Given the description of an element on the screen output the (x, y) to click on. 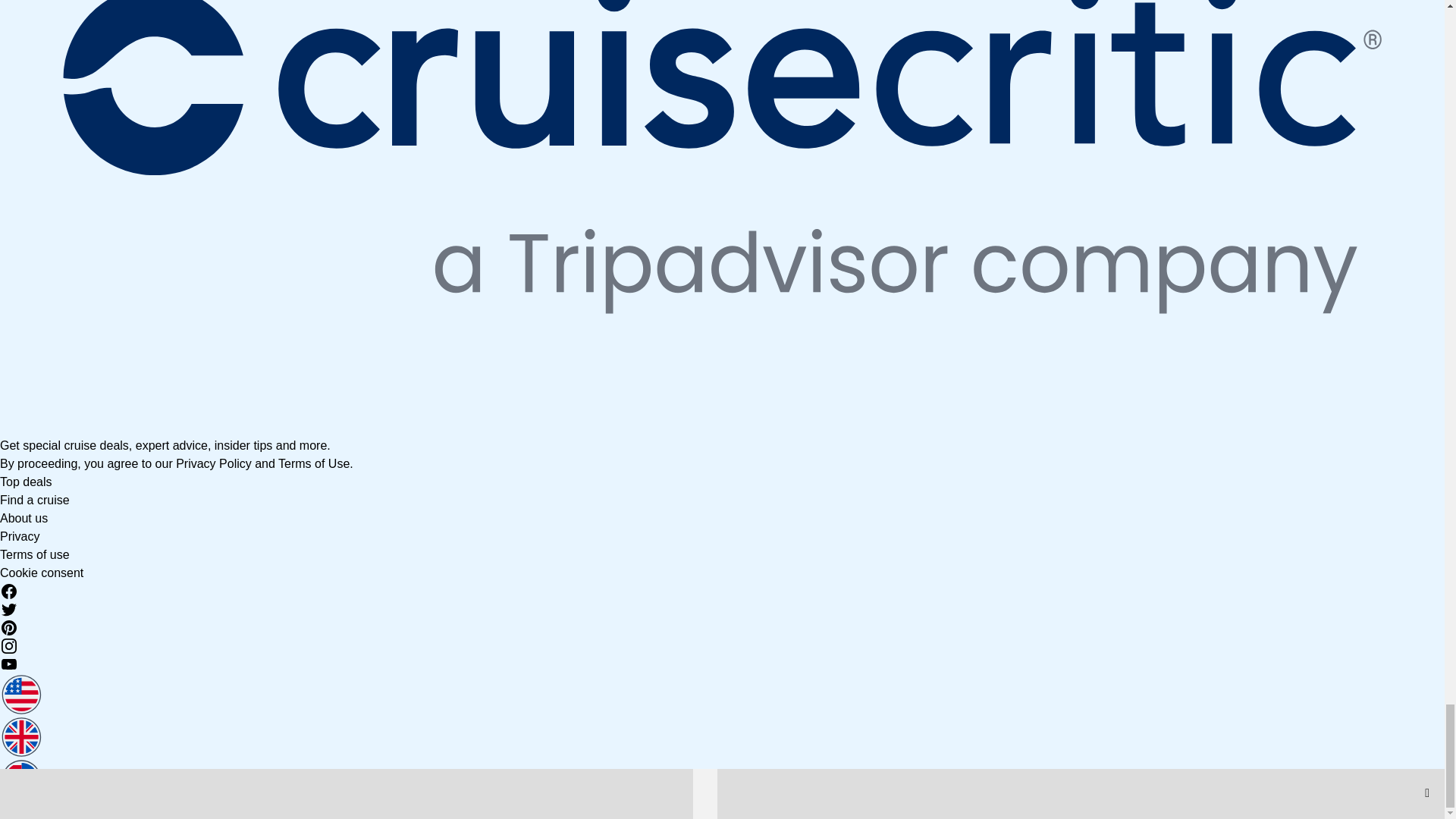
Top deals (26, 481)
Cookie consent (41, 573)
Terms of Use (313, 463)
Find a cruise (34, 499)
Privacy (19, 535)
Privacy Policy (213, 463)
About us (24, 517)
Terms of use (34, 554)
